Given the description of an element on the screen output the (x, y) to click on. 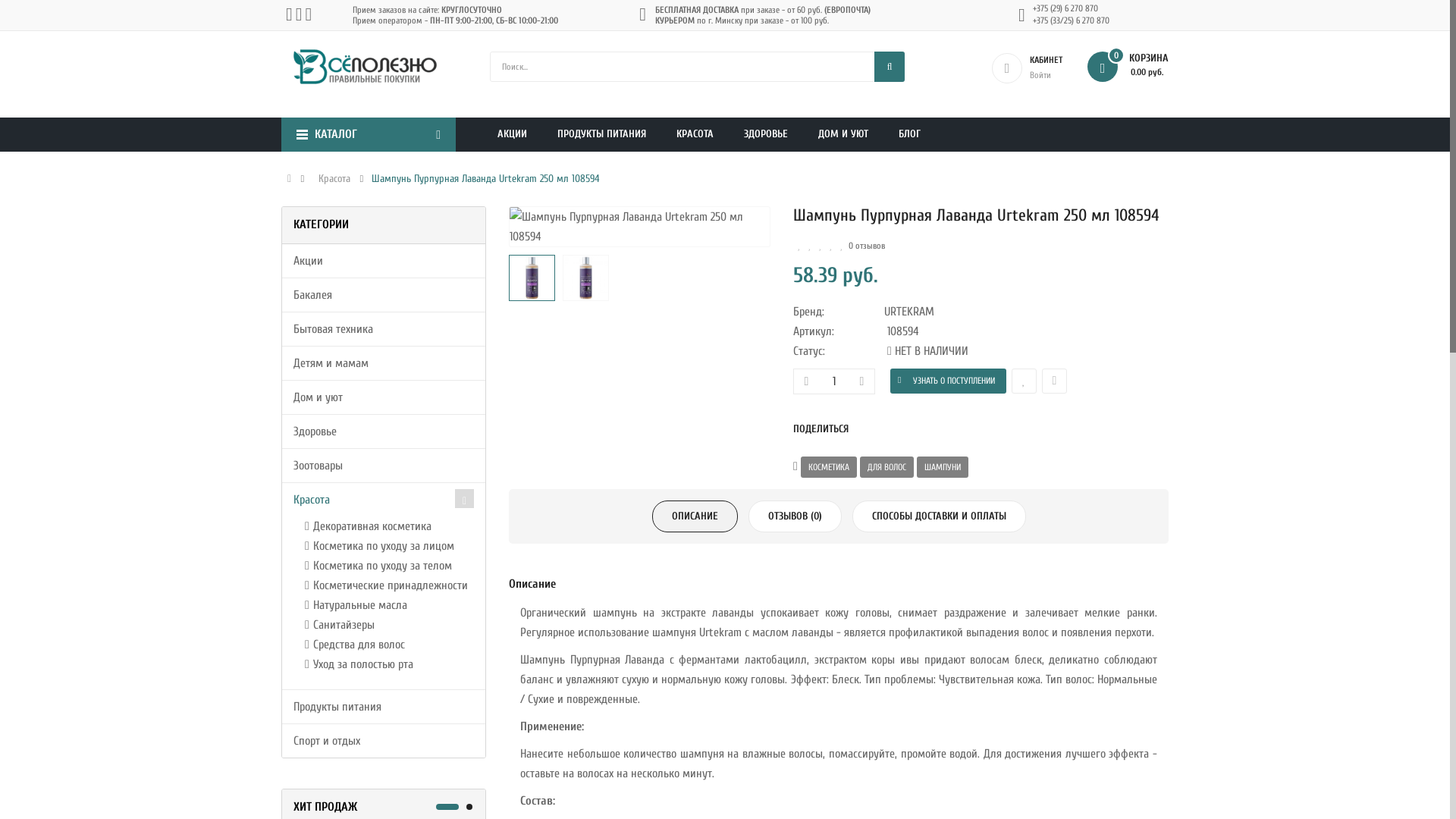
URTEKRAM Element type: text (929, 311)
+375 (33/25) 6 270 870 Element type: text (1070, 21)
+375 (29) 6 270 870 Element type: text (1065, 9)
